Given the description of an element on the screen output the (x, y) to click on. 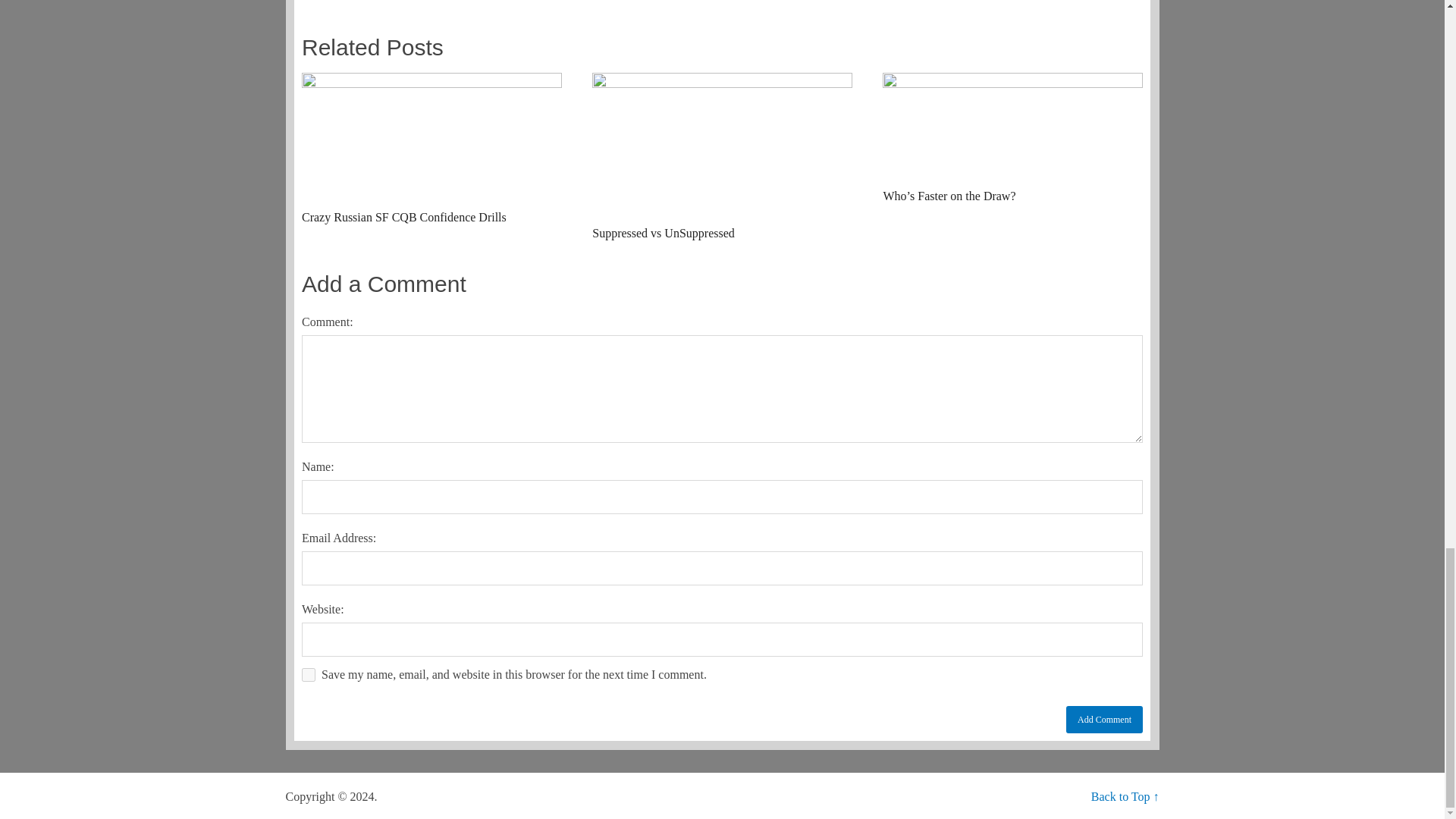
yes (308, 674)
Suppressed vs UnSuppressed (721, 157)
Add Comment (1103, 719)
Crazy Russian SF CQB Confidence Drills (430, 149)
